Given the description of an element on the screen output the (x, y) to click on. 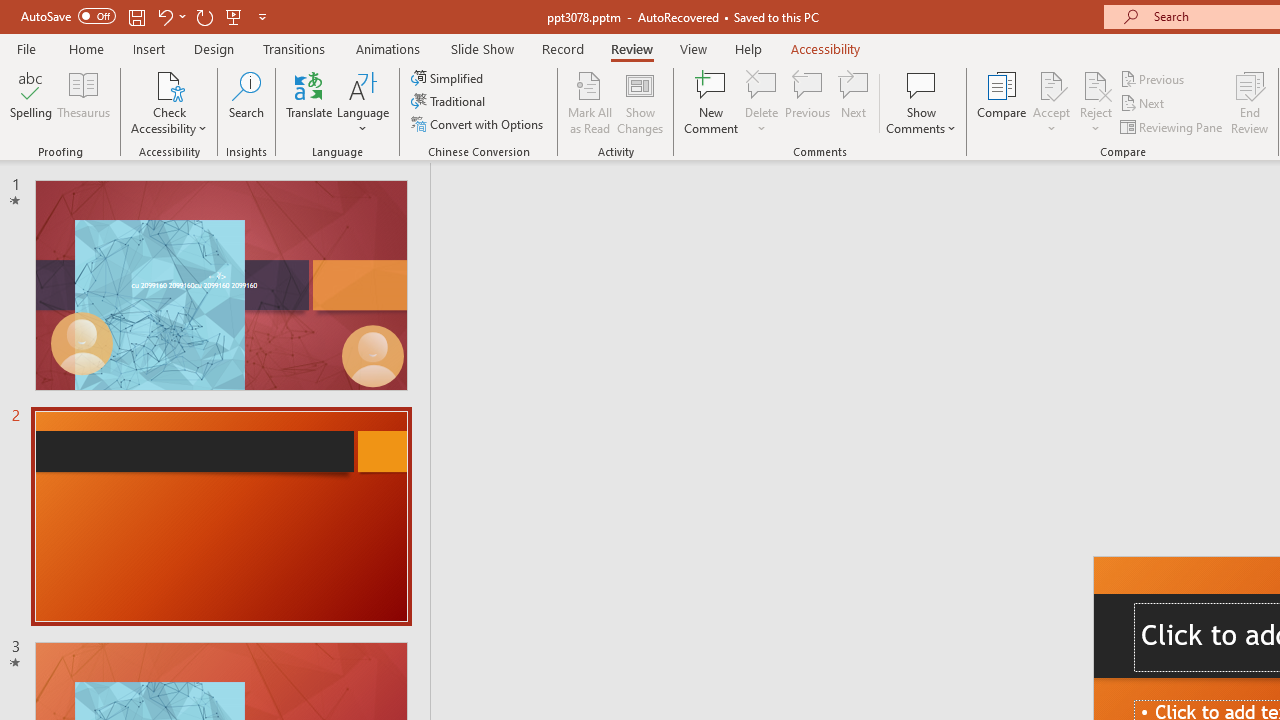
Convert with Options... (479, 124)
Accept Change (1051, 84)
Traditional (449, 101)
Simplified (449, 78)
